Given the description of an element on the screen output the (x, y) to click on. 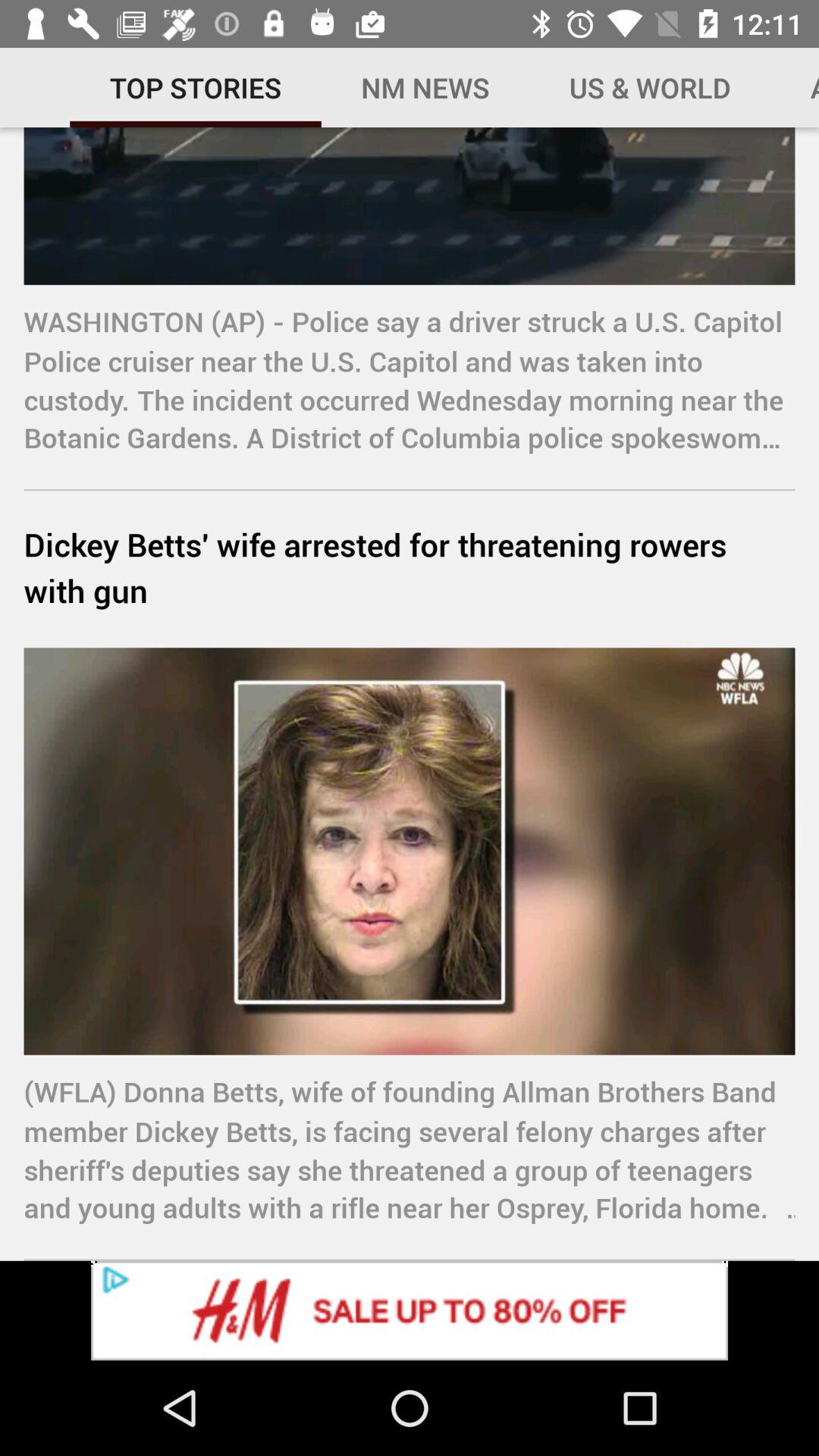
go to advertisement website (409, 1310)
